Given the description of an element on the screen output the (x, y) to click on. 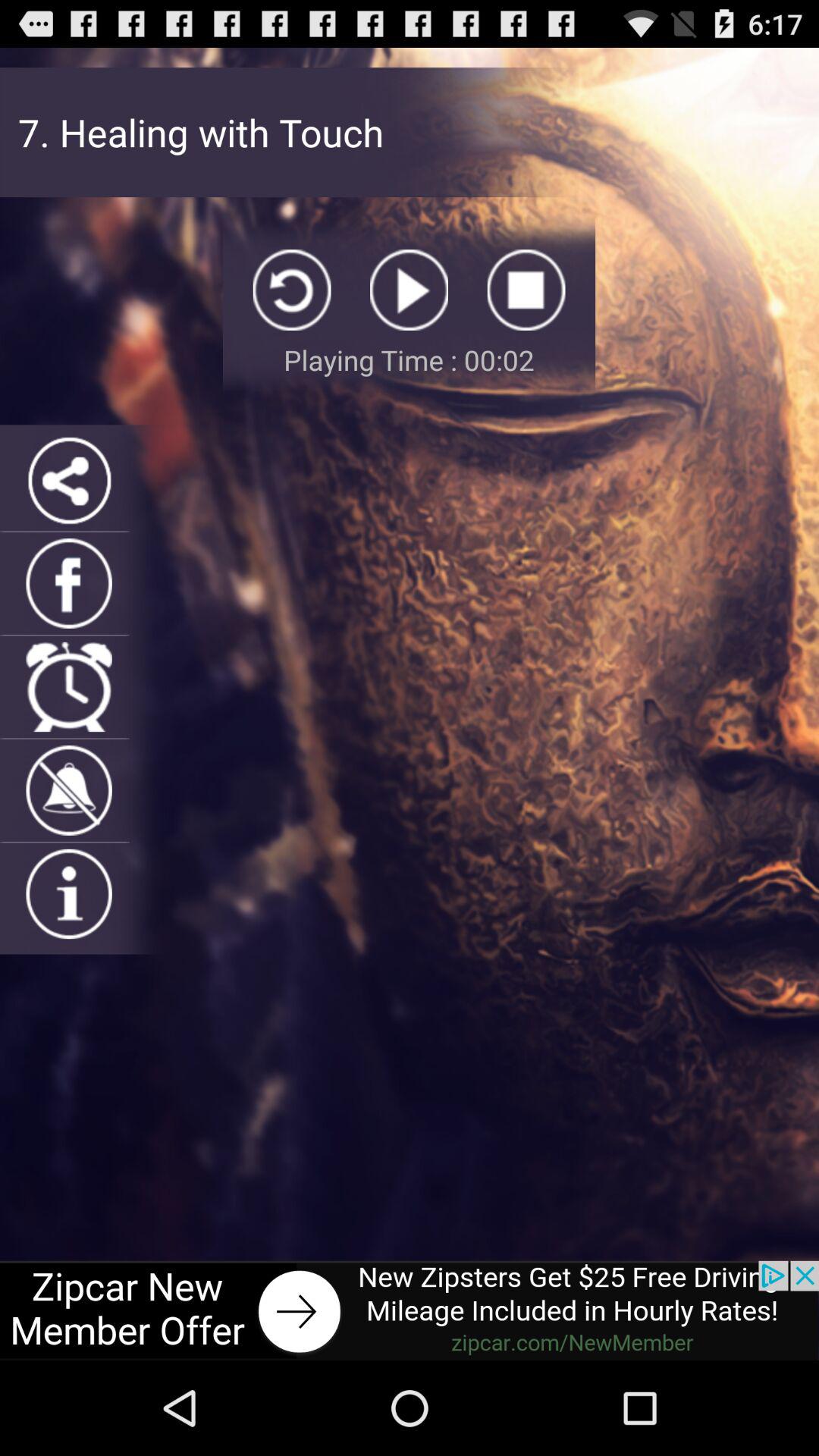
stop song (526, 289)
